Given the description of an element on the screen output the (x, y) to click on. 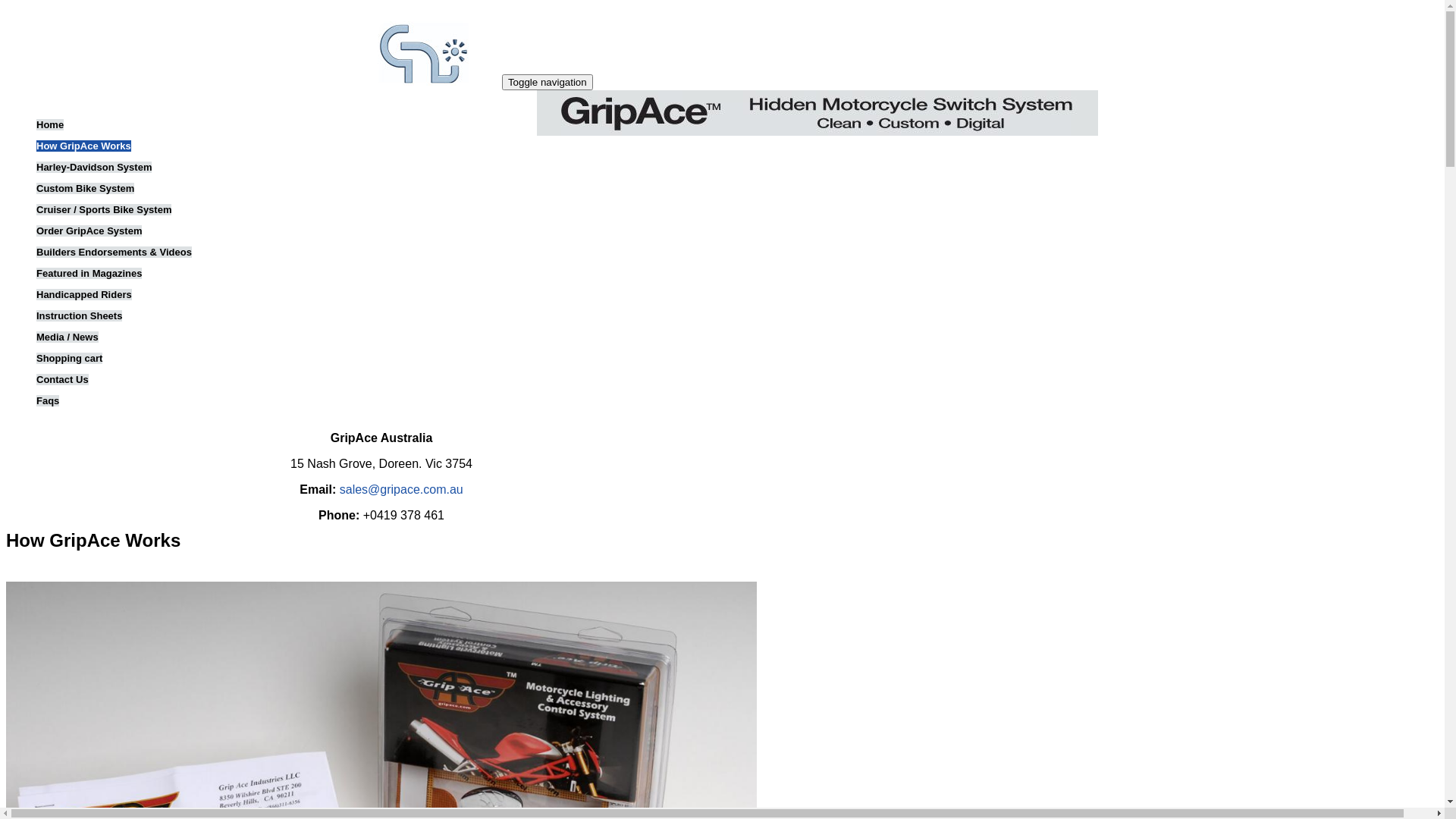
Builders Endorsements & Videos Element type: text (113, 251)
Harley-Davidson System Element type: text (93, 166)
Media / News Element type: text (67, 336)
Cruiser / Sports Bike System Element type: text (103, 209)
Contact Us Element type: text (62, 379)
Home Element type: text (49, 124)
Instruction Sheets Element type: text (79, 315)
Featured in Magazines Element type: text (88, 273)
Handicapped Riders Element type: text (83, 294)
sales@gripace.com.au Element type: text (401, 489)
Faqs Element type: text (47, 400)
Home Element type: hover (424, 81)
Toggle navigation Element type: text (547, 82)
Skip to main content Element type: text (6, 6)
How GripAce Works Element type: text (83, 145)
Shopping cart Element type: text (69, 358)
Custom Bike System Element type: text (85, 188)
Order GripAce System Element type: text (88, 230)
